Given the description of an element on the screen output the (x, y) to click on. 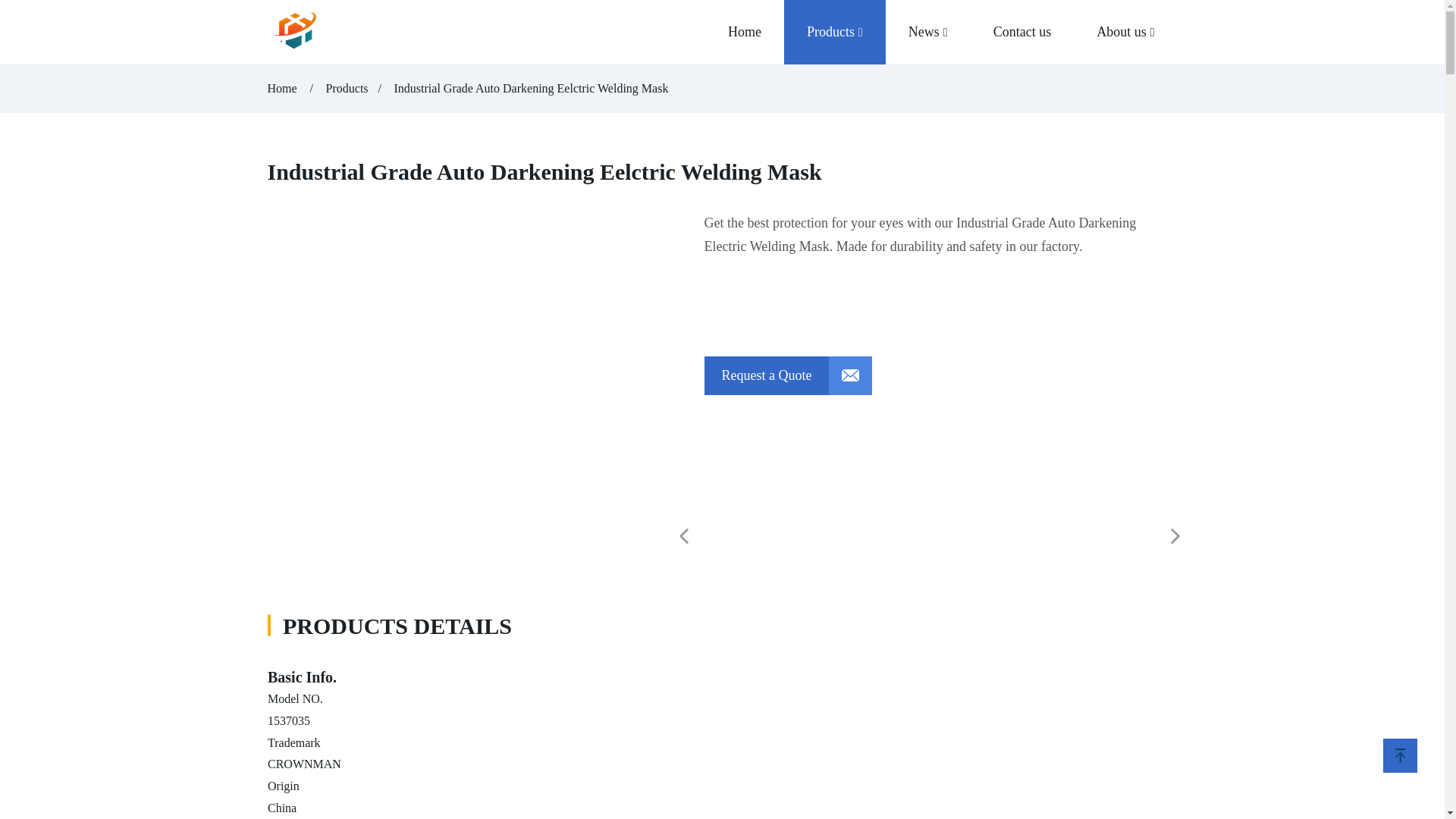
Contact us (1022, 32)
Products (834, 32)
News (928, 32)
About us (1125, 32)
Products (347, 88)
Home (282, 88)
Home (744, 32)
Request a Quote (787, 375)
